Given the description of an element on the screen output the (x, y) to click on. 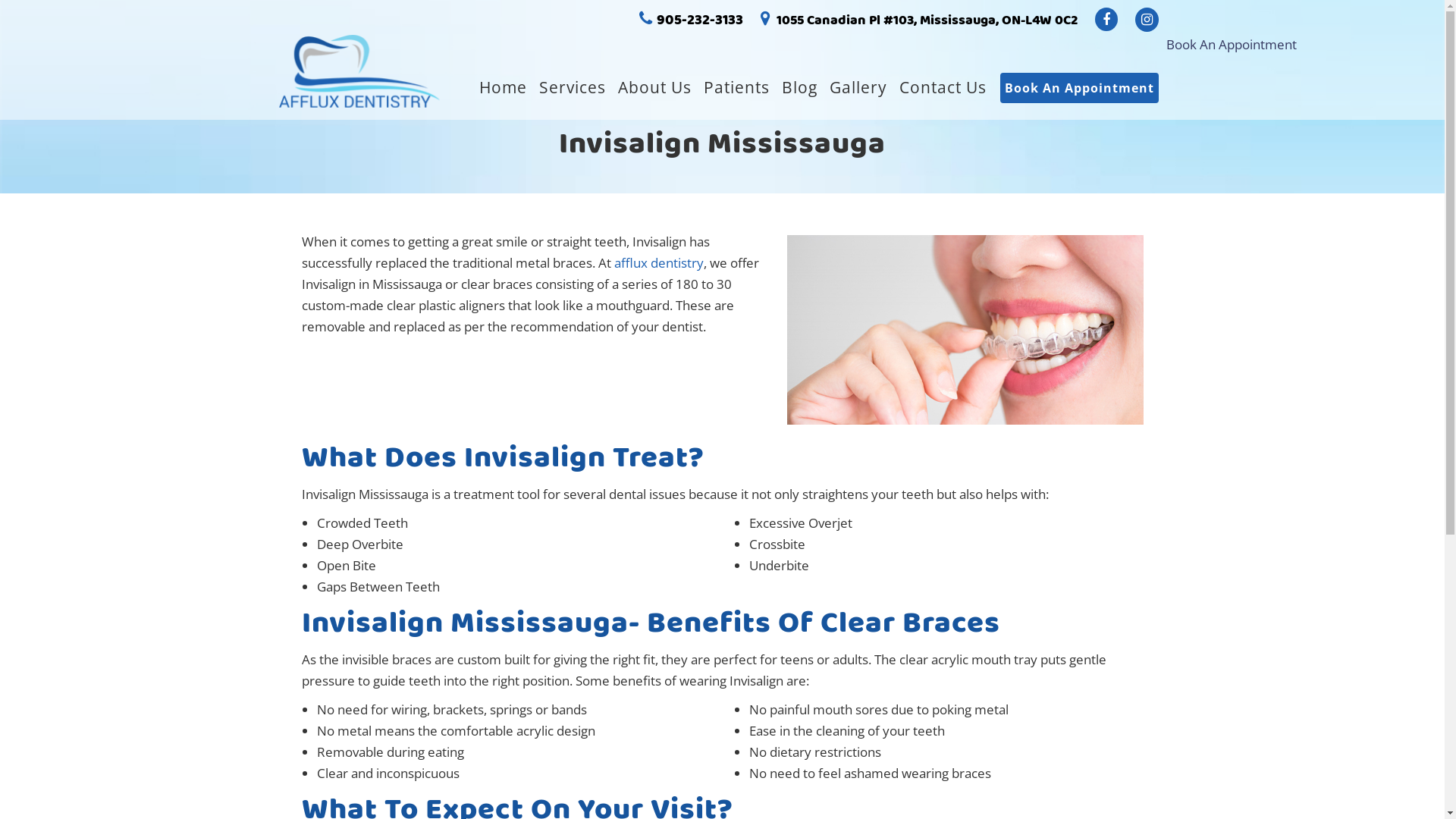
Book An Appointment Element type: text (1231, 44)
afflux dentistry Element type: text (658, 262)
Home Element type: text (503, 87)
Services Element type: text (571, 87)
Book An Appointment Element type: text (1078, 87)
About Us Element type: text (653, 87)
905-232-3133 Element type: text (699, 20)
Blog Element type: text (798, 87)
Contact Us Element type: text (942, 87)
Gallery Element type: text (858, 87)
Patients Element type: text (736, 87)
